Given the description of an element on the screen output the (x, y) to click on. 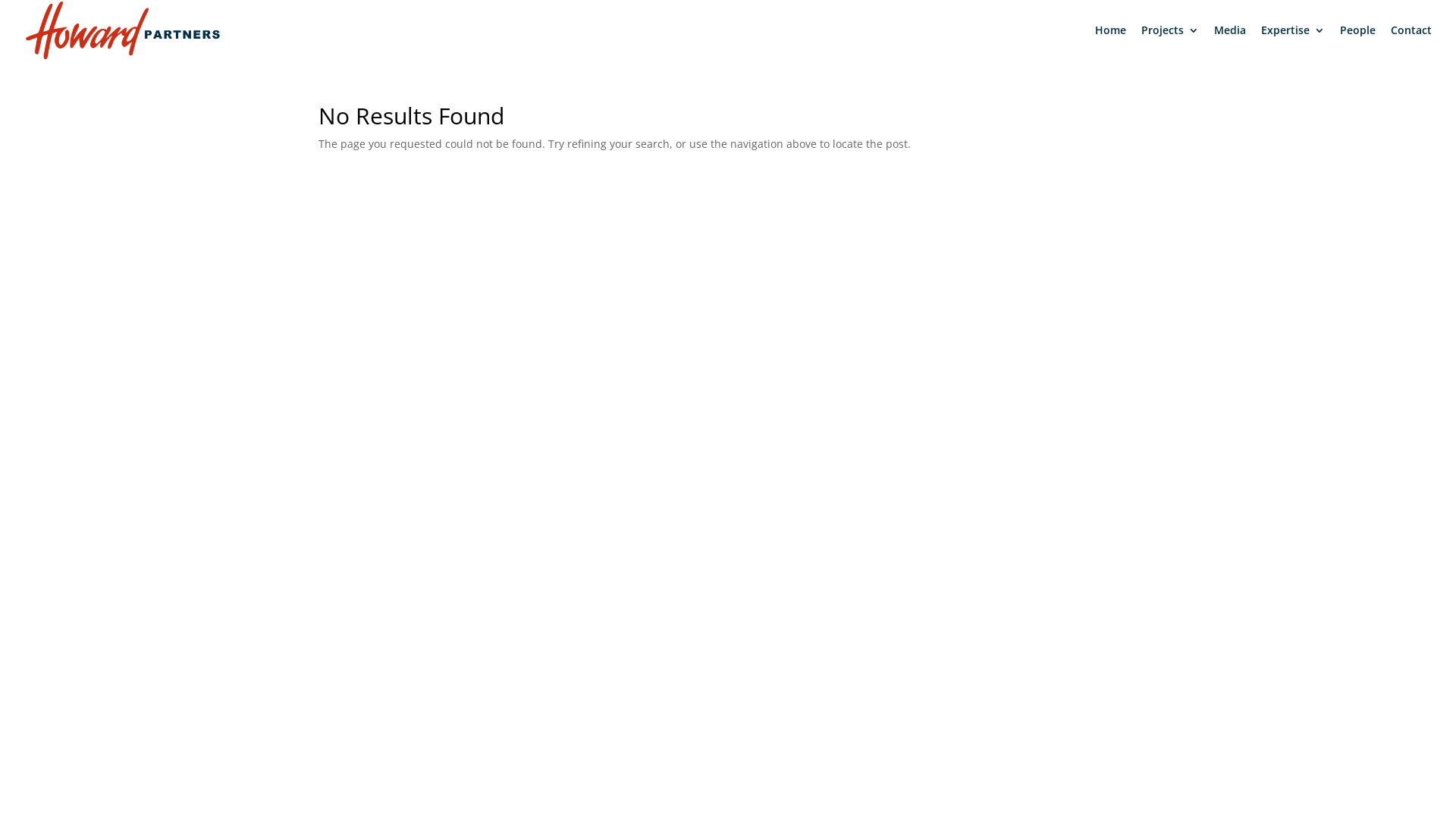
Projects Element type: text (1169, 42)
Expertise Element type: text (1292, 42)
Contact Element type: text (1410, 42)
Media Element type: text (1229, 42)
People Element type: text (1357, 42)
Home Element type: text (1110, 42)
